Given the description of an element on the screen output the (x, y) to click on. 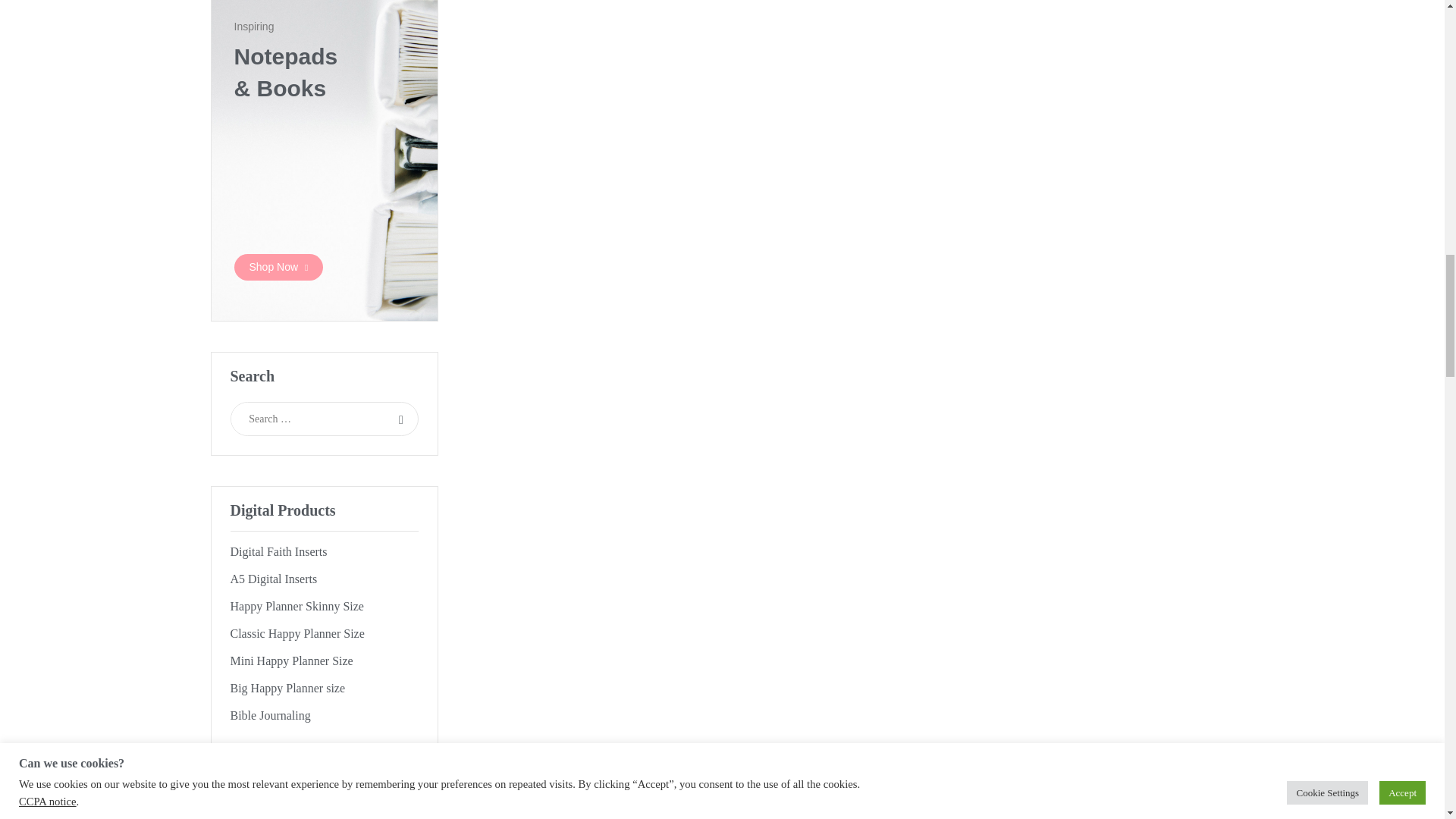
Search (402, 418)
Search (402, 418)
